Given the description of an element on the screen output the (x, y) to click on. 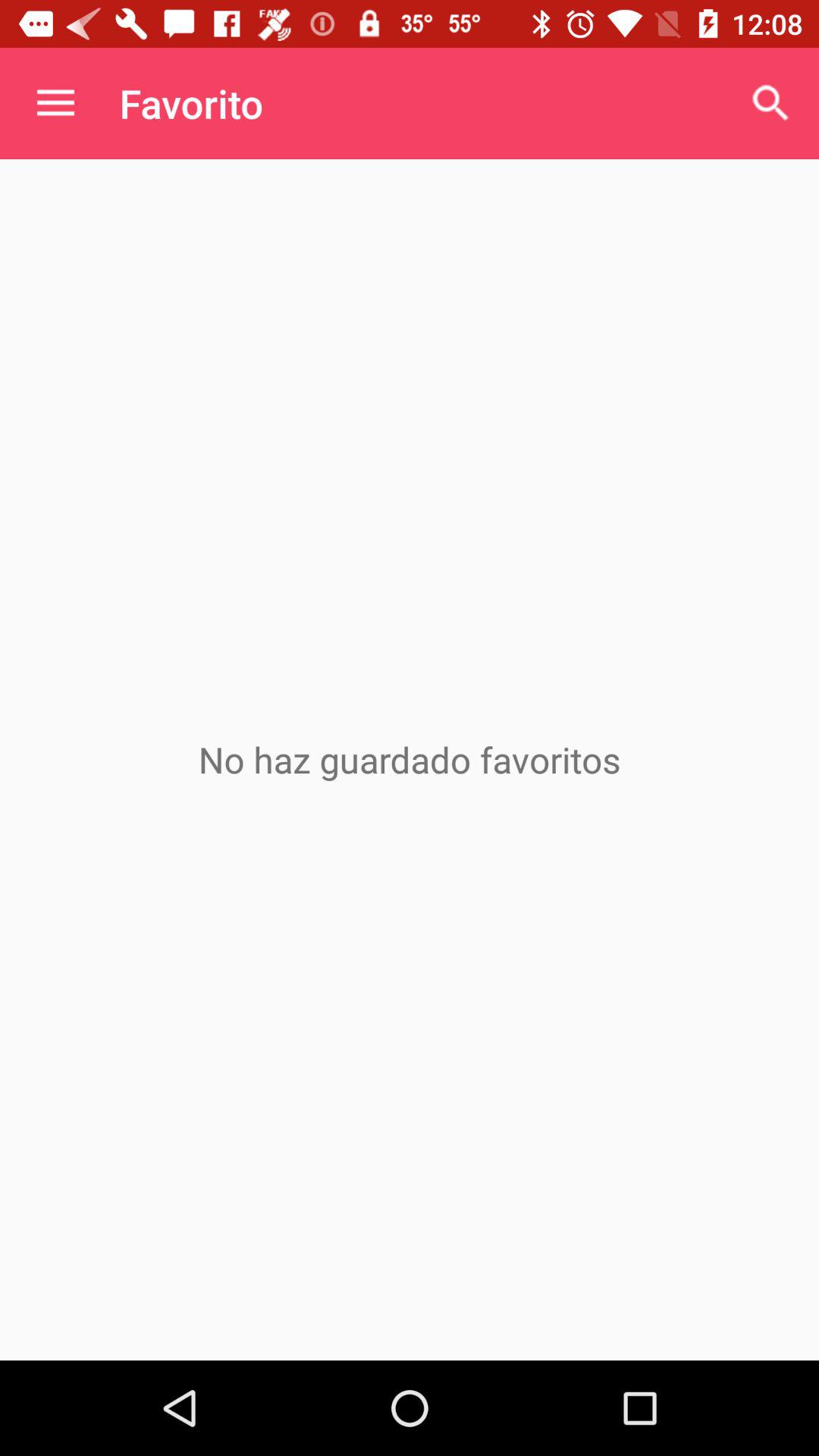
click item to the right of the favorito (771, 103)
